Given the description of an element on the screen output the (x, y) to click on. 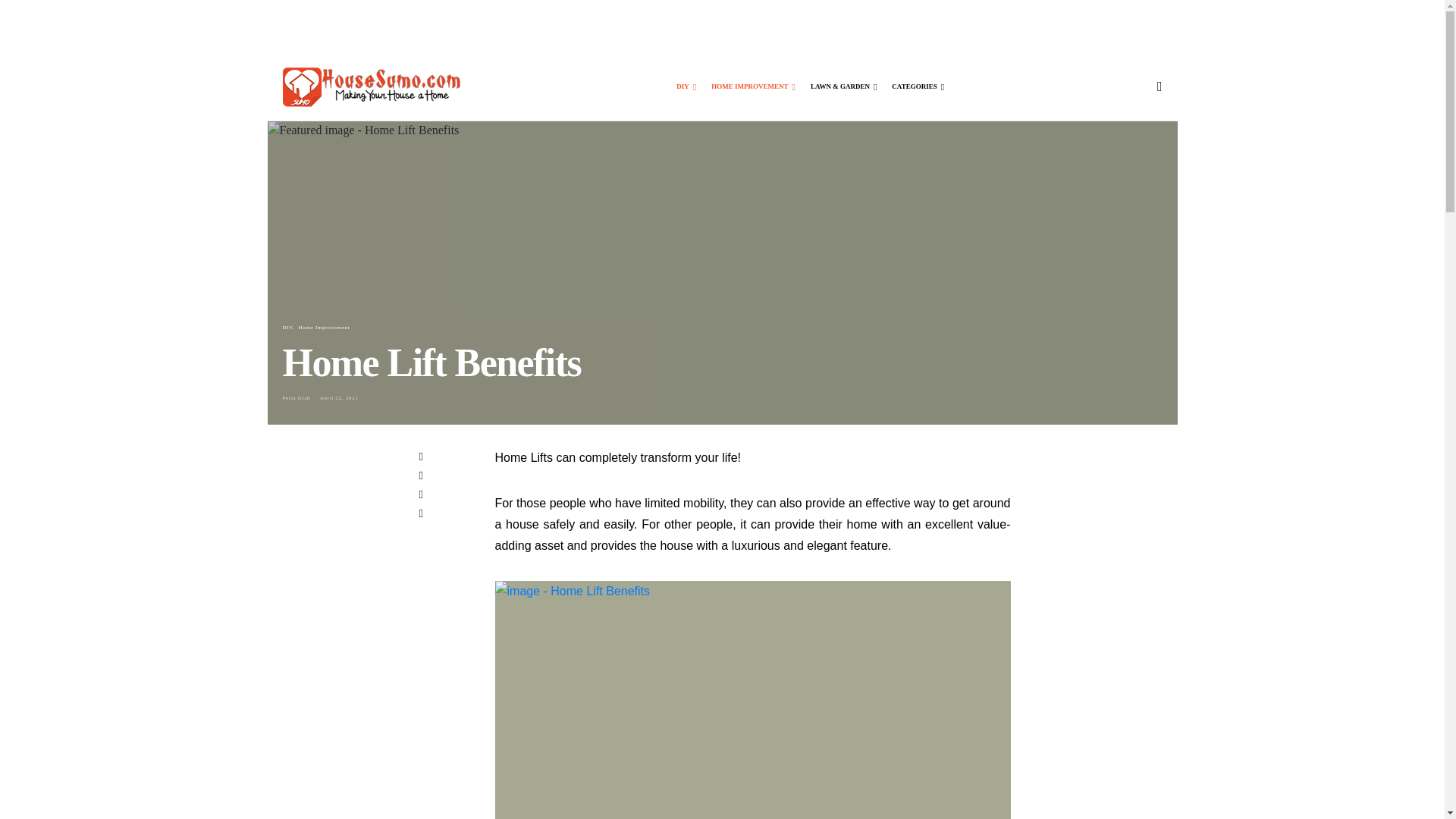
DIY (686, 86)
View all posts by Perla Irish (296, 396)
Home Lift Benefits (752, 699)
